Given the description of an element on the screen output the (x, y) to click on. 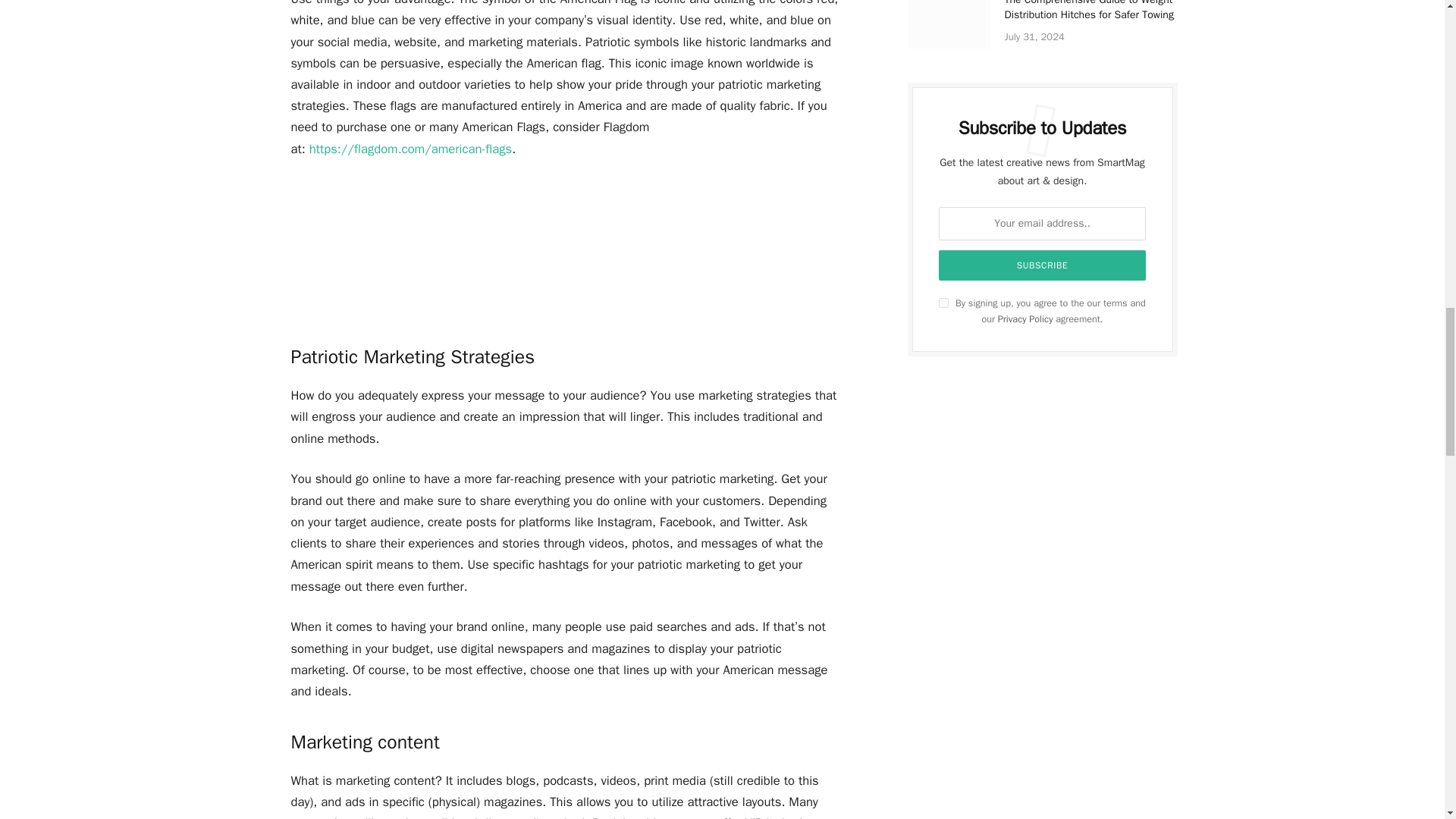
on (944, 302)
Subscribe (1043, 265)
